Given the description of an element on the screen output the (x, y) to click on. 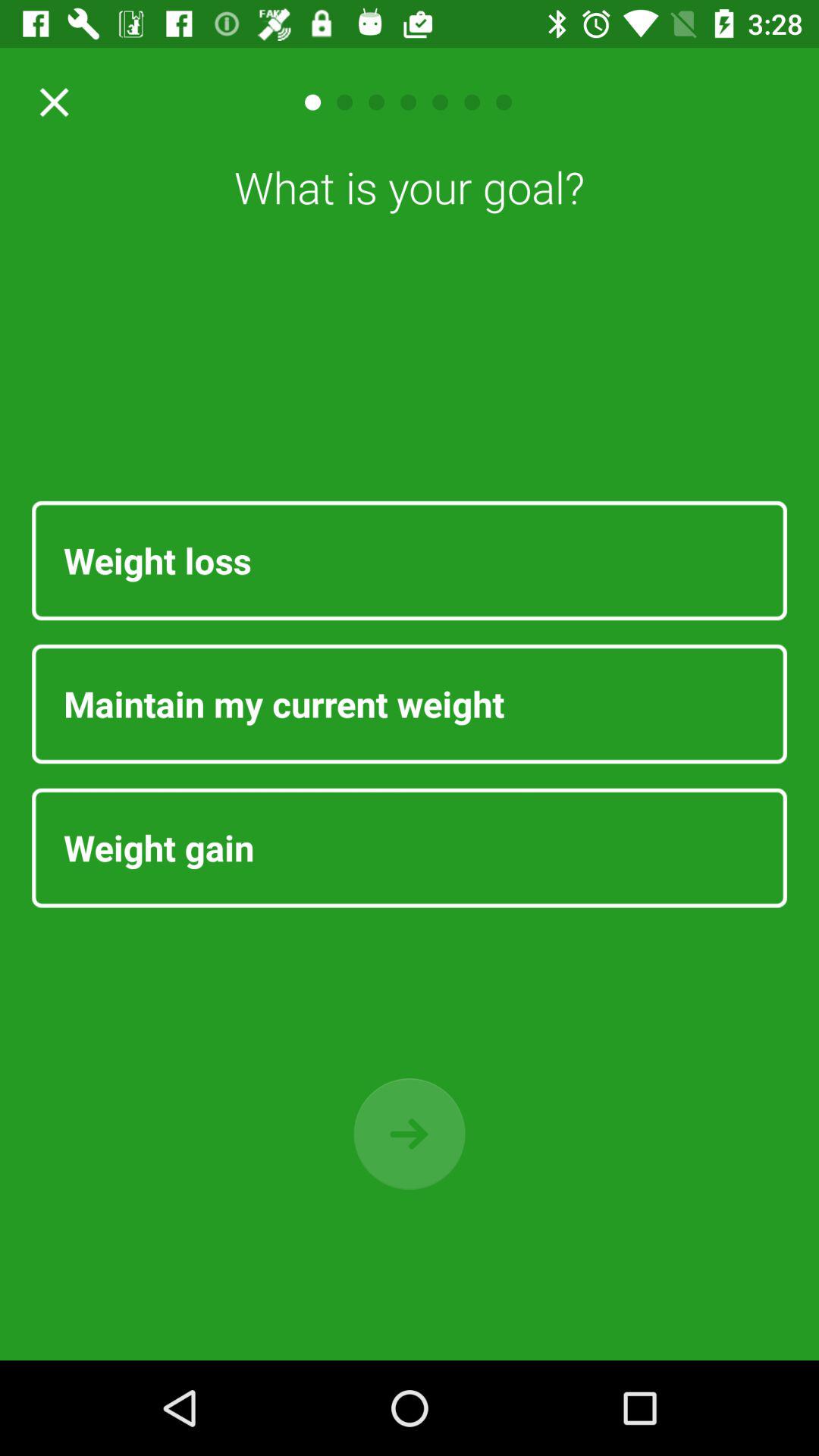
next page (409, 1133)
